Given the description of an element on the screen output the (x, y) to click on. 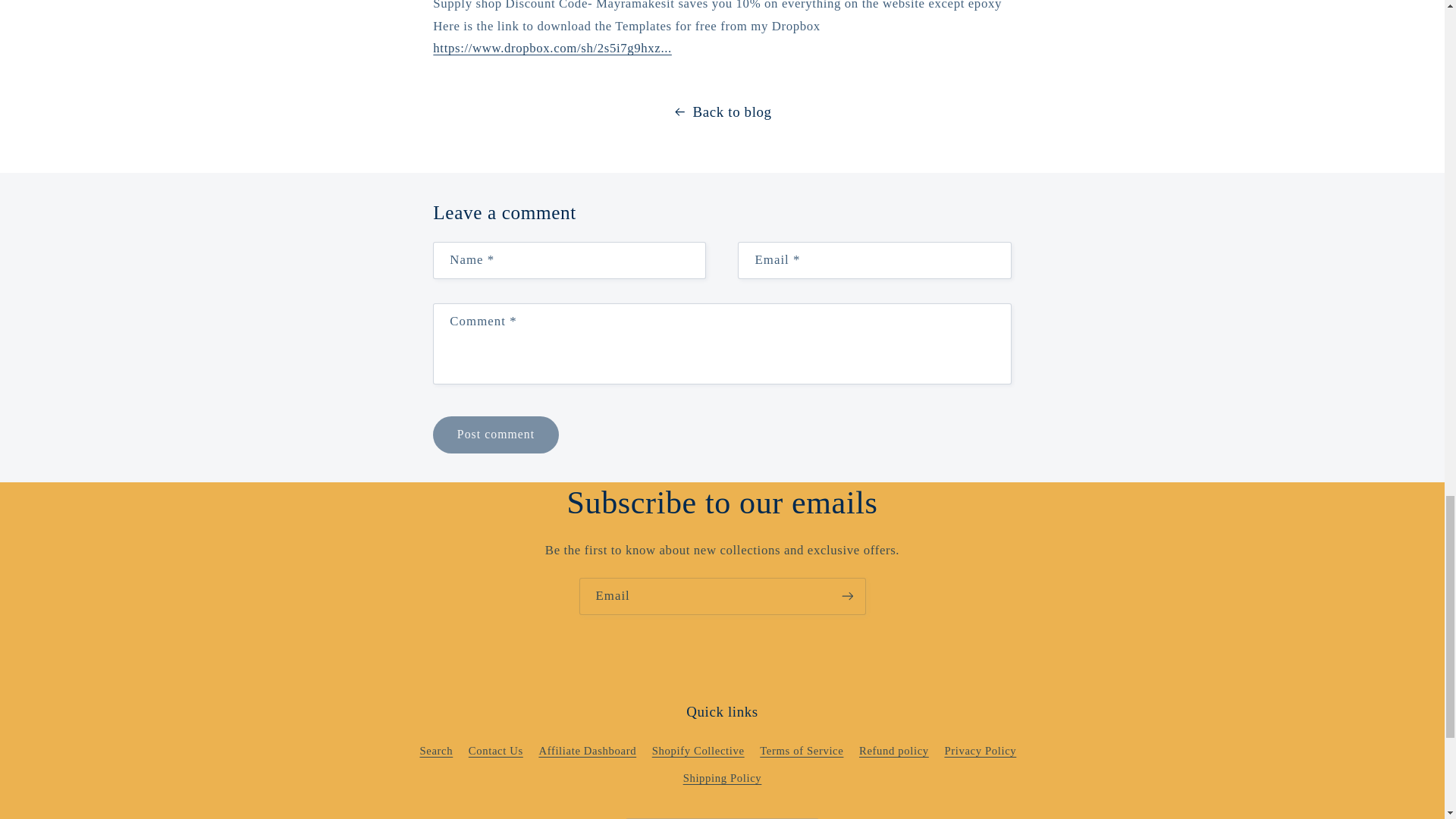
Post comment (494, 434)
